Given the description of an element on the screen output the (x, y) to click on. 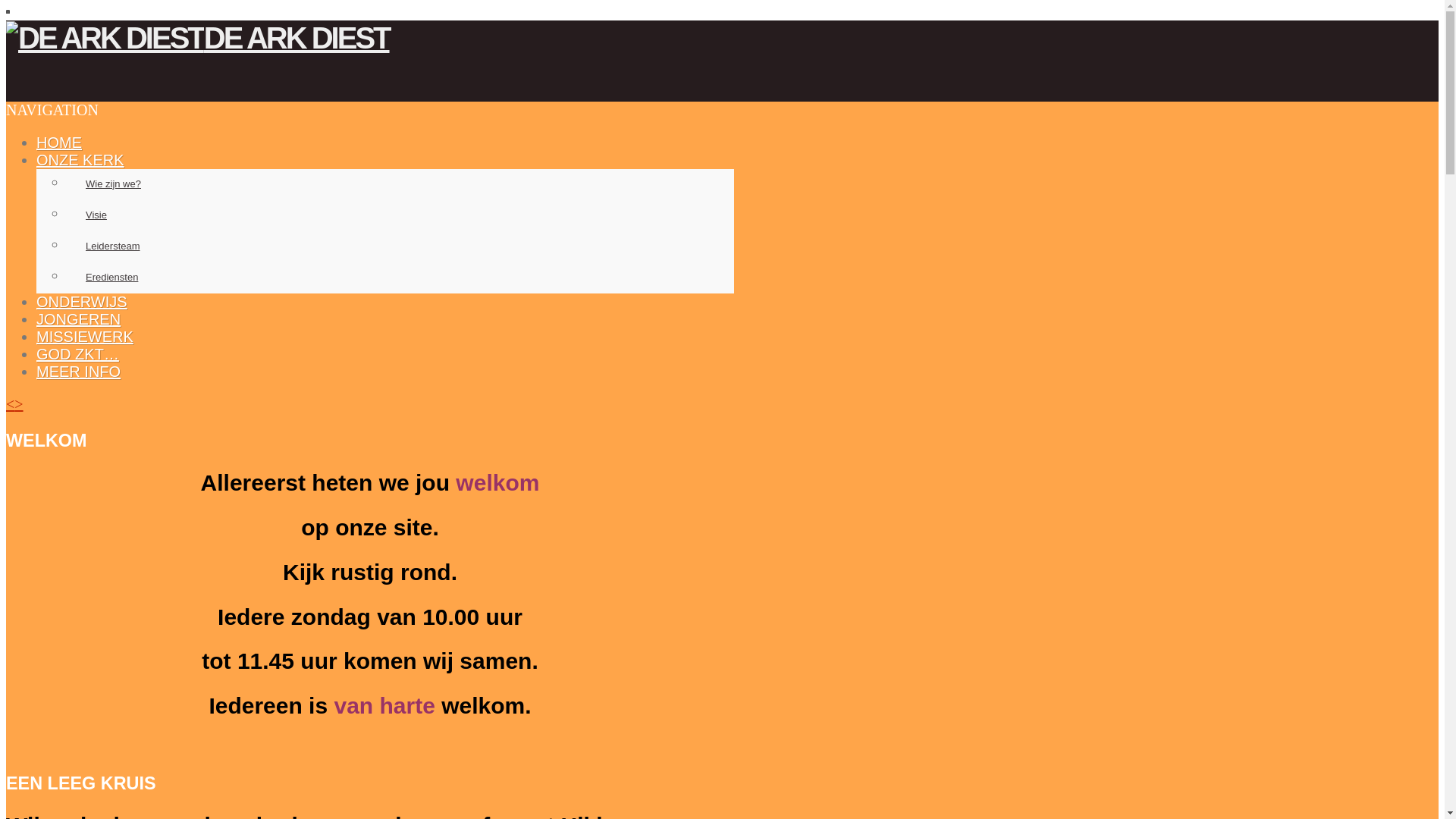
JONGEREN Element type: text (78, 318)
DE ARK DIEST Element type: text (197, 37)
MISSIEWERK Element type: text (84, 336)
MEER INFO Element type: text (78, 371)
ONZE KERK Element type: text (80, 159)
Erediensten Element type: text (400, 277)
Leidersteam Element type: text (400, 246)
> Element type: text (18, 403)
ONDERWIJS Element type: text (81, 301)
Wie zijn we? Element type: text (400, 184)
HOME Element type: text (58, 142)
< Element type: text (10, 403)
Visie Element type: text (400, 215)
